Given the description of an element on the screen output the (x, y) to click on. 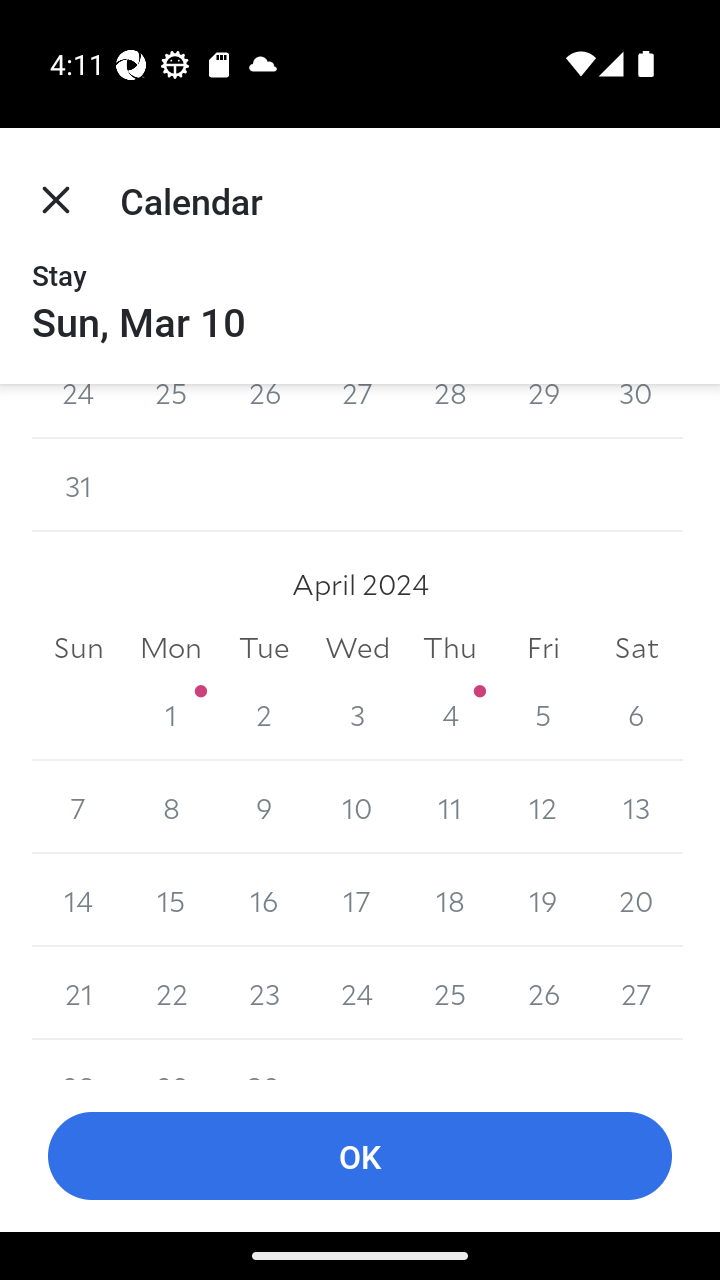
24 24 March 2024 (78, 411)
25 25 March 2024 (171, 411)
26 26 March 2024 (264, 411)
27 27 March 2024 (357, 411)
28 28 March 2024 (449, 411)
29 29 March 2024 (542, 411)
30 30 March 2024 (636, 411)
31 31 March 2024 (78, 485)
Sun (78, 647)
Mon (171, 647)
Tue (264, 647)
Wed (357, 647)
Thu (449, 647)
Fri (542, 647)
Sat (636, 647)
1 1 April 2024 (171, 714)
2 2 April 2024 (264, 714)
3 3 April 2024 (357, 714)
4 4 April 2024 (449, 714)
5 5 April 2024 (542, 714)
6 6 April 2024 (636, 714)
7 7 April 2024 (78, 807)
8 8 April 2024 (171, 807)
9 9 April 2024 (264, 807)
10 10 April 2024 (357, 807)
11 11 April 2024 (449, 807)
12 12 April 2024 (542, 807)
13 13 April 2024 (636, 807)
14 14 April 2024 (78, 900)
15 15 April 2024 (171, 900)
16 16 April 2024 (264, 900)
17 17 April 2024 (357, 900)
18 18 April 2024 (449, 900)
19 19 April 2024 (542, 900)
20 20 April 2024 (636, 900)
21 21 April 2024 (78, 993)
22 22 April 2024 (171, 993)
23 23 April 2024 (264, 993)
24 24 April 2024 (357, 993)
25 25 April 2024 (449, 993)
26 26 April 2024 (542, 993)
27 27 April 2024 (636, 993)
OK (359, 1156)
